Given the description of an element on the screen output the (x, y) to click on. 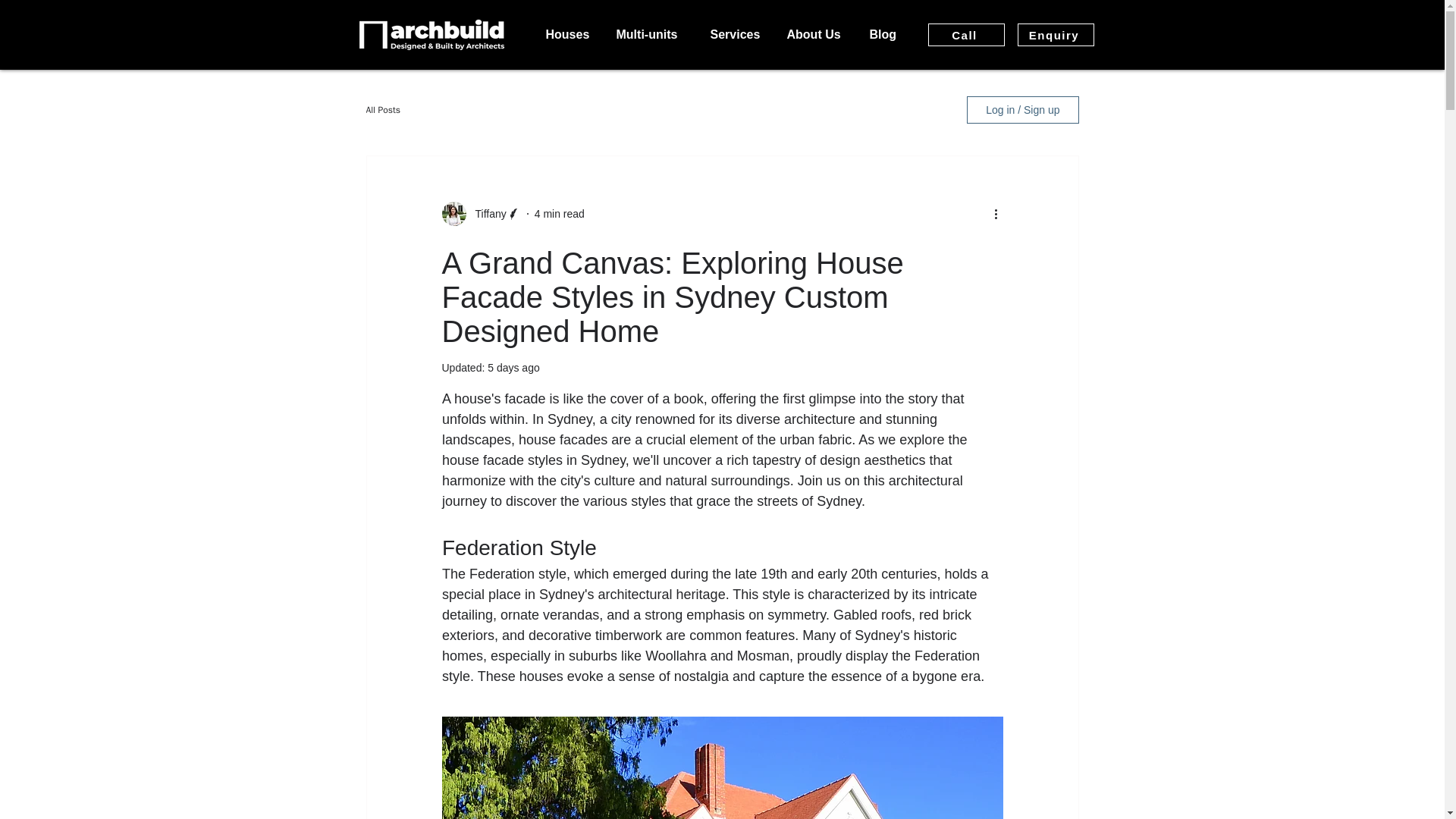
Houses (569, 34)
Services (737, 34)
Enquiry (1055, 34)
All Posts (382, 109)
Tiffany (485, 213)
About Us (815, 34)
archbuild logo (431, 34)
4 min read (559, 214)
5 days ago (513, 367)
Call (966, 34)
